Given the description of an element on the screen output the (x, y) to click on. 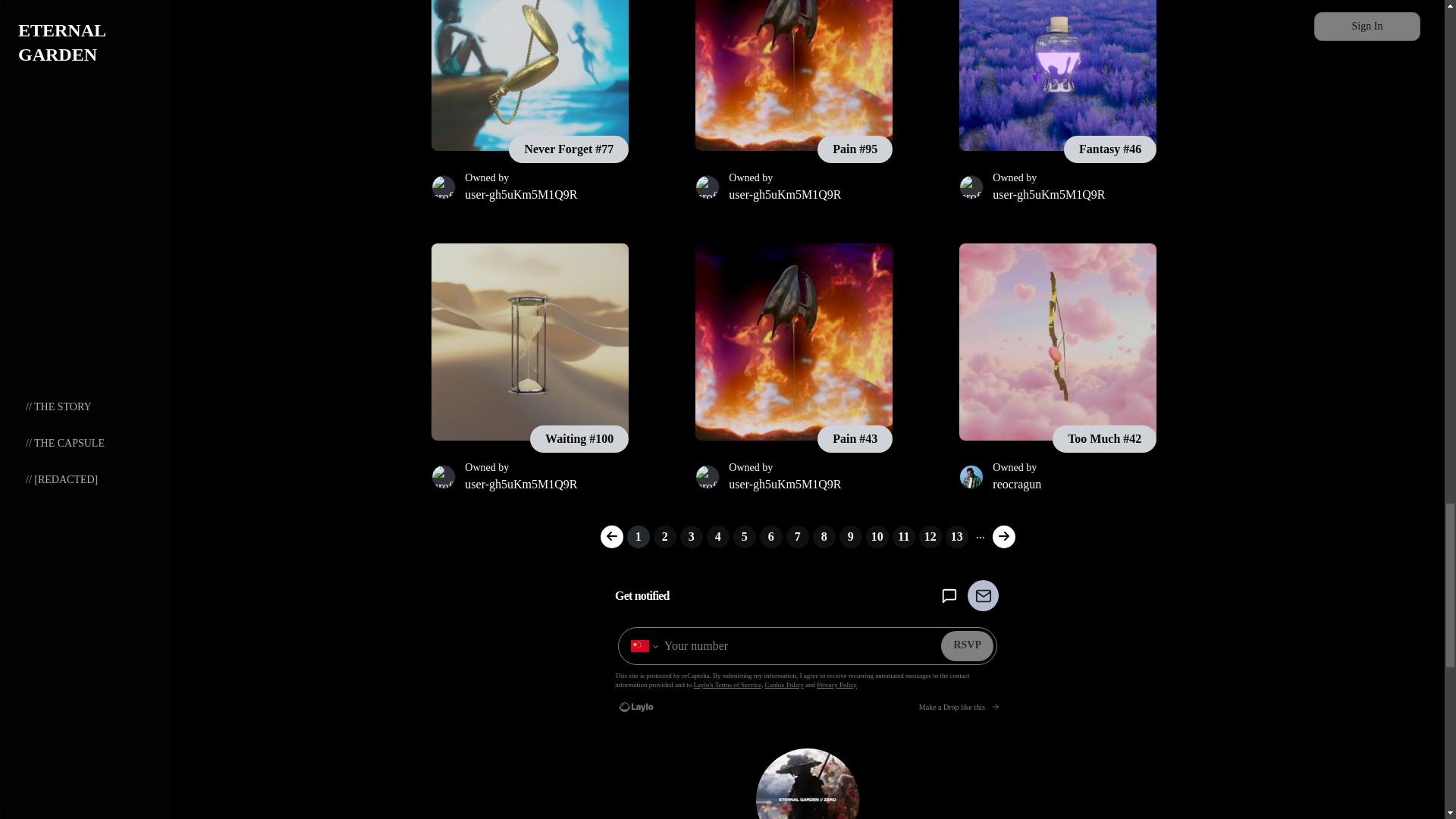
6 (771, 536)
7 (797, 536)
5 (744, 536)
4 (717, 536)
1 (638, 536)
2 (665, 536)
8 (823, 536)
3 (691, 536)
